Given the description of an element on the screen output the (x, y) to click on. 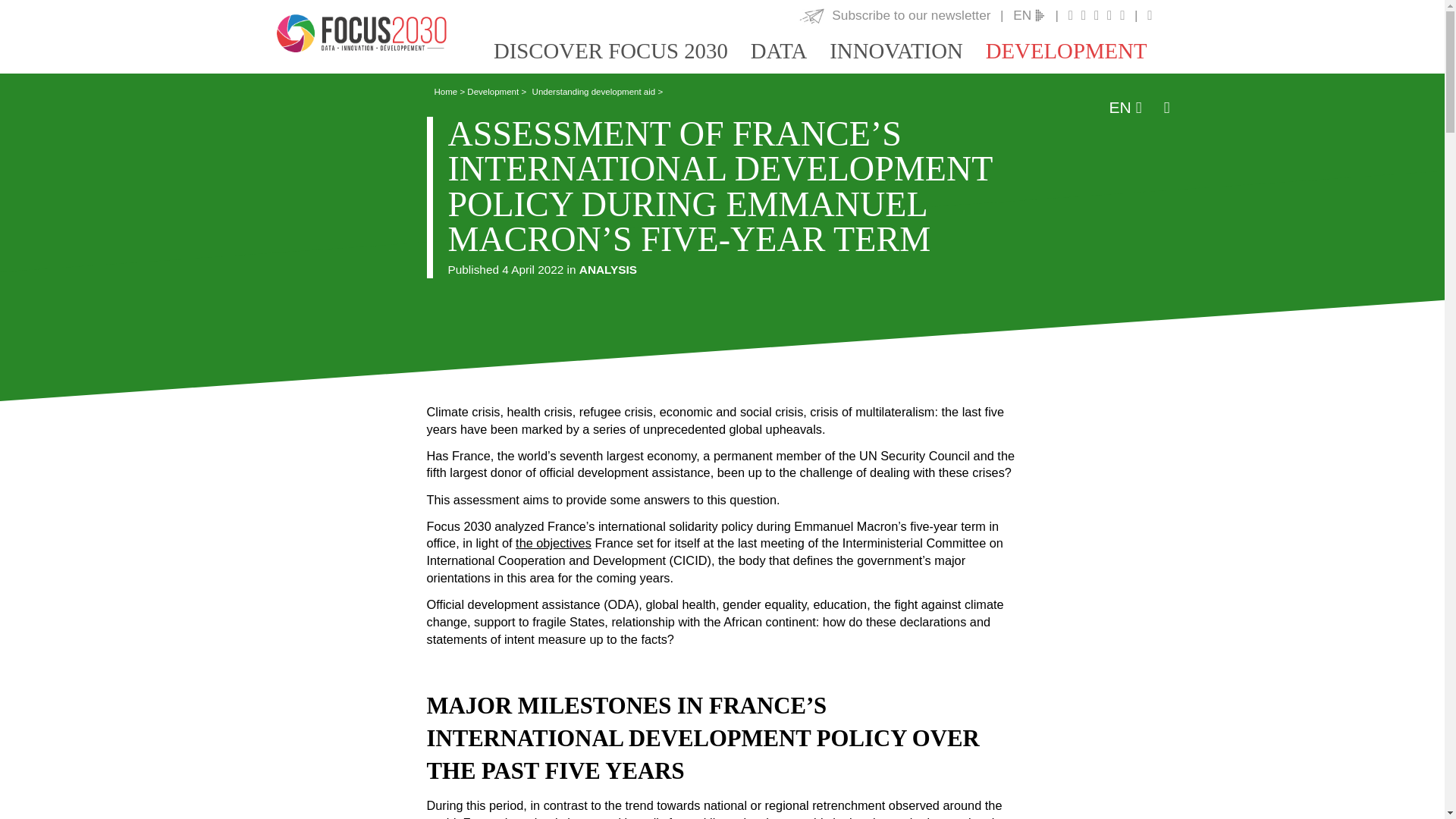
Vers la page d'accueil (361, 33)
Innovation (907, 50)
Discover Focus 2030 (622, 50)
Development (1077, 50)
Subscribe to our newsletter (893, 14)
DATA (790, 50)
DISCOVER FOCUS 2030 (622, 50)
EN (1029, 14)
DEVELOPMENT (1077, 50)
Data (790, 50)
INNOVATION (907, 50)
